Given the description of an element on the screen output the (x, y) to click on. 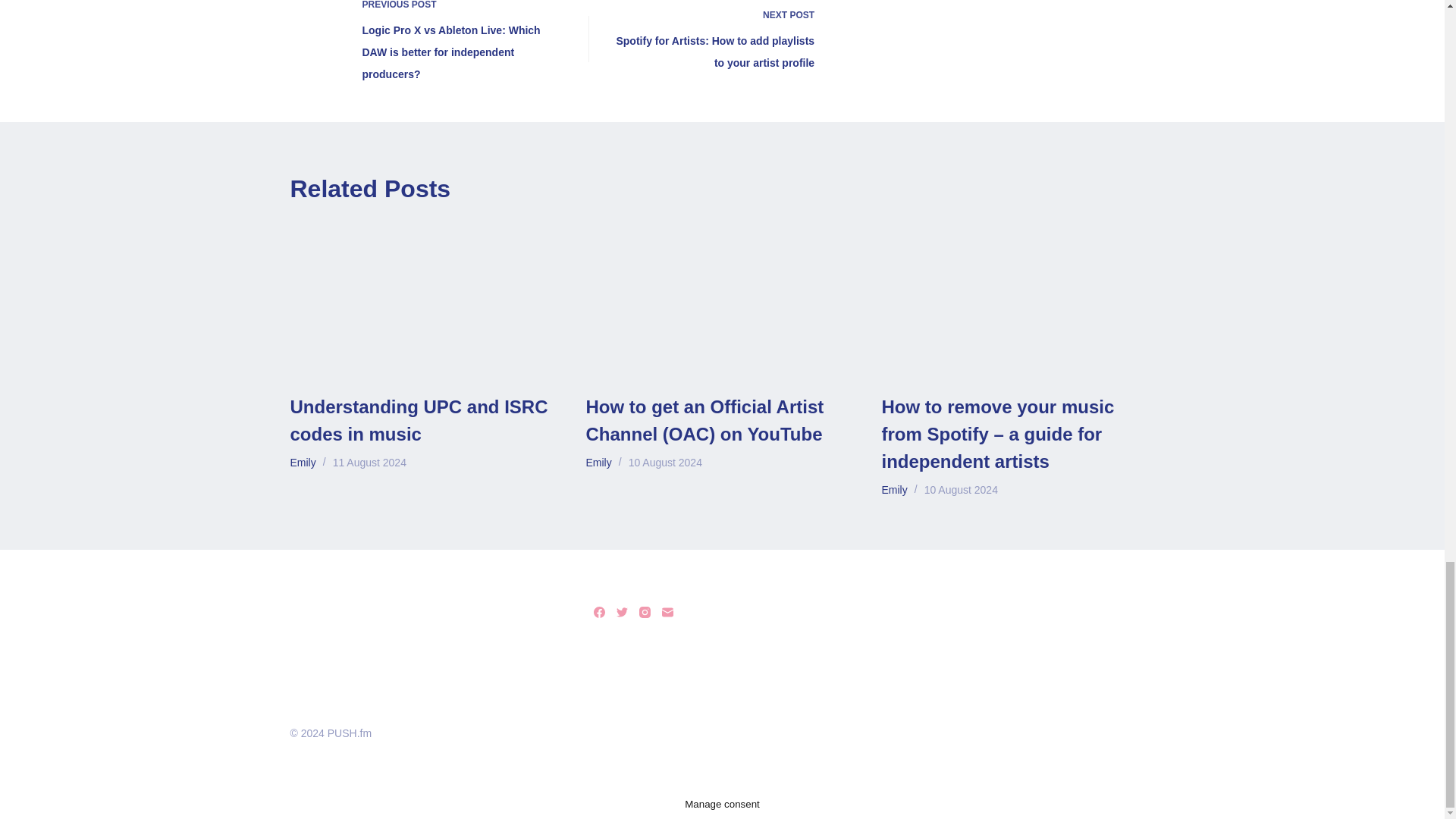
Posts by Emily (302, 462)
Posts by Emily (598, 462)
Posts by Emily (893, 490)
